Given the description of an element on the screen output the (x, y) to click on. 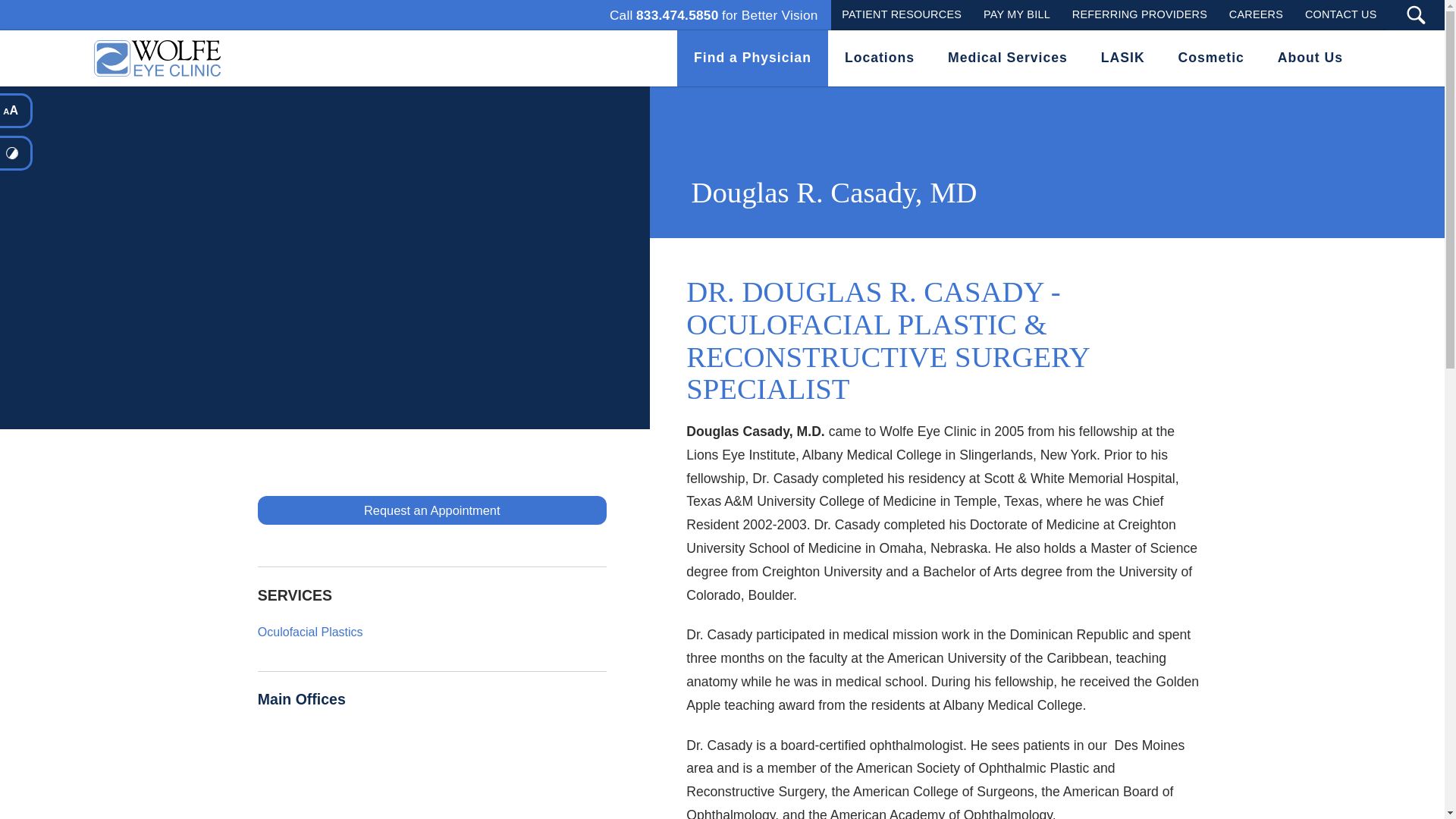
CONTACT US (713, 15)
CAREERS (1340, 14)
Find a Physician (1255, 14)
Wolfe Eye Clinic. Link to homepage (752, 58)
PAY MY BILL (154, 58)
REFERRING PROVIDERS (1016, 14)
Locations (1139, 14)
Medical Services (879, 58)
